Given the description of an element on the screen output the (x, y) to click on. 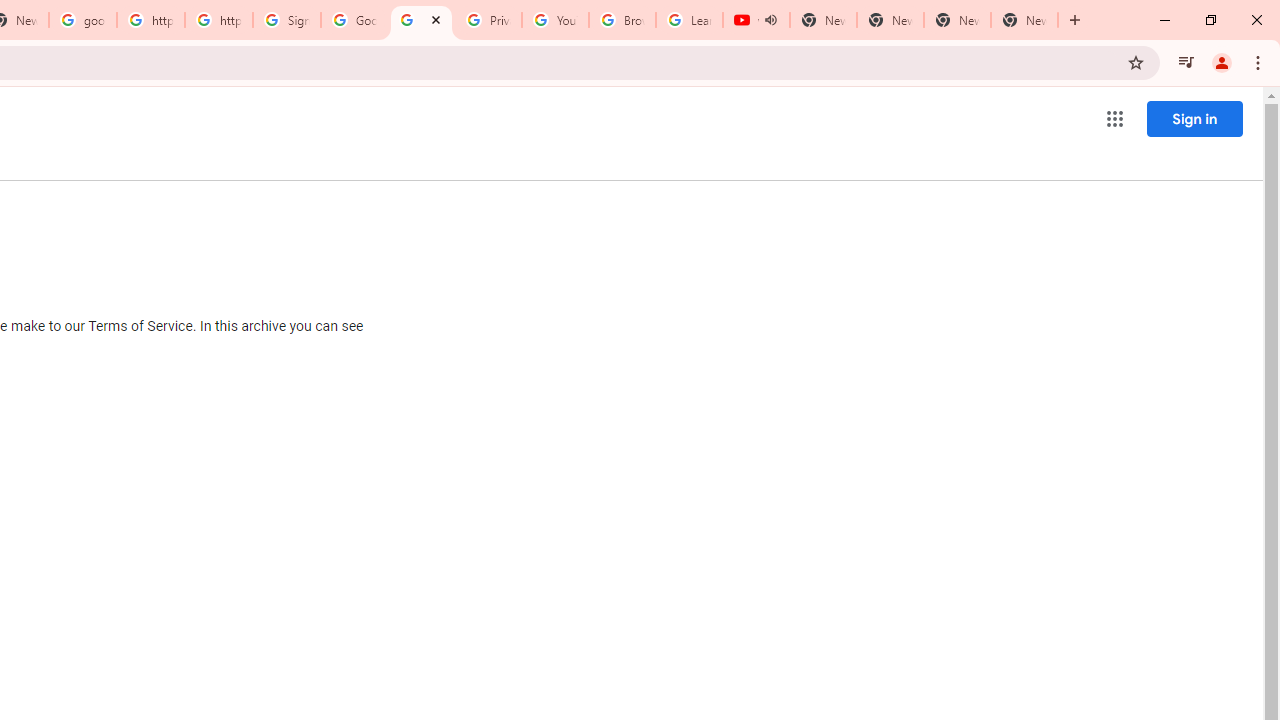
Sign in - Google Accounts (287, 20)
https://scholar.google.com/ (219, 20)
